Given the description of an element on the screen output the (x, y) to click on. 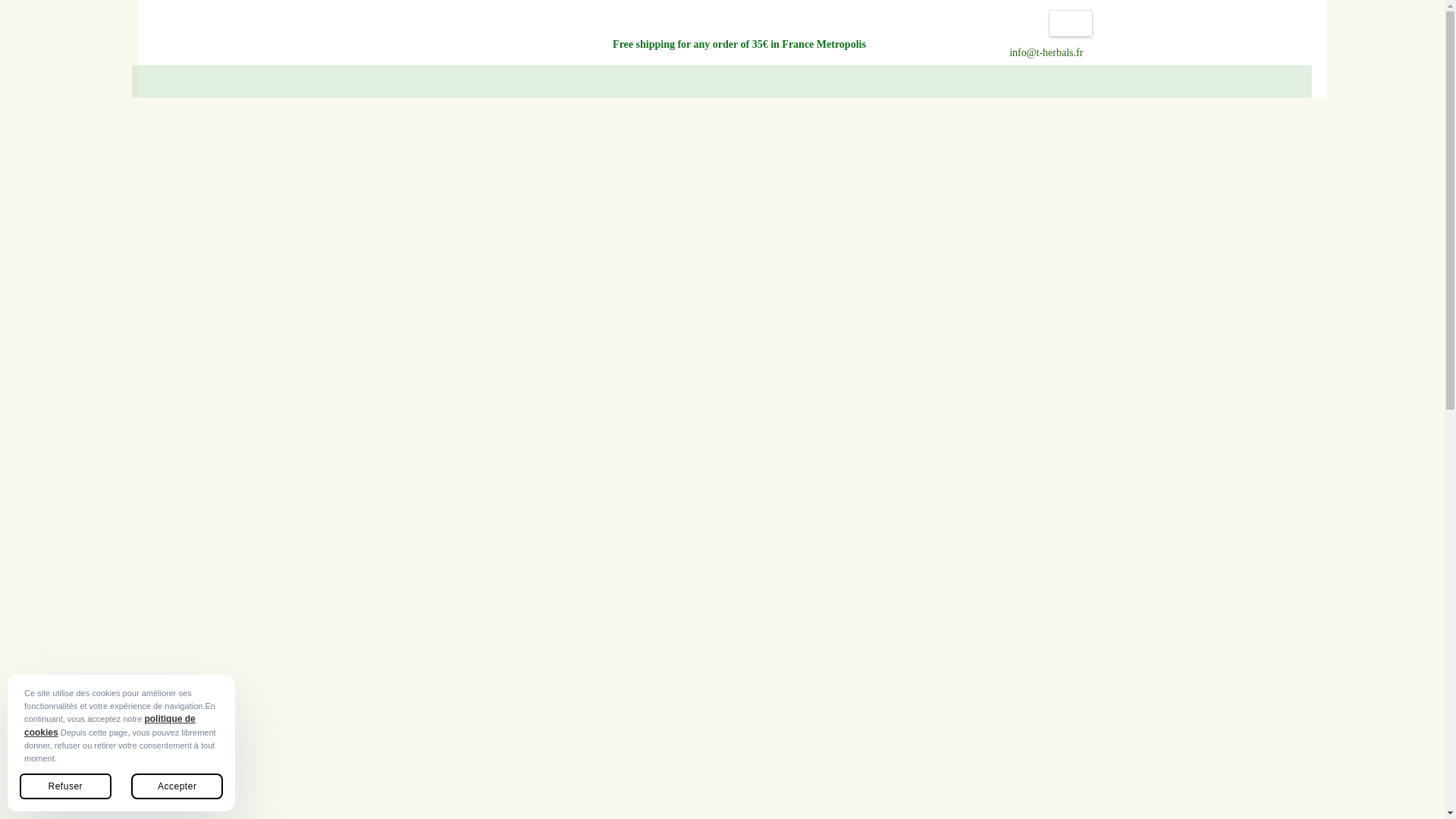
politique de cookies (109, 725)
